Given the description of an element on the screen output the (x, y) to click on. 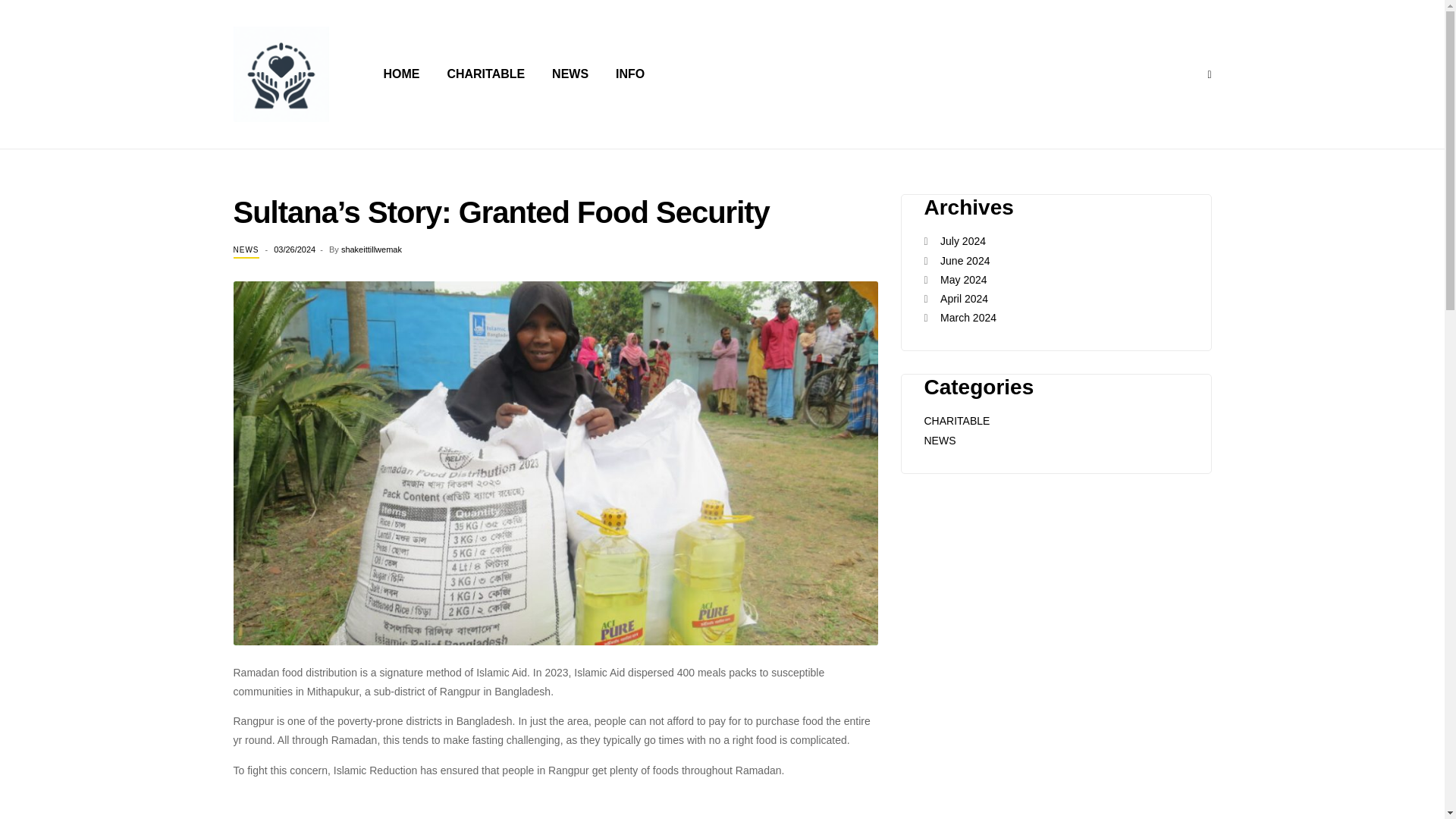
April 2024 (964, 298)
CHARITABLE (956, 420)
July 2024 (962, 241)
shakeittillwemak (370, 248)
NEWS (939, 440)
March 2024 (967, 317)
June 2024 (965, 260)
INFO (630, 74)
May 2024 (963, 279)
CHARITABLE (485, 74)
NEWS (569, 74)
NEWS (245, 250)
HOME (401, 74)
